Given the description of an element on the screen output the (x, y) to click on. 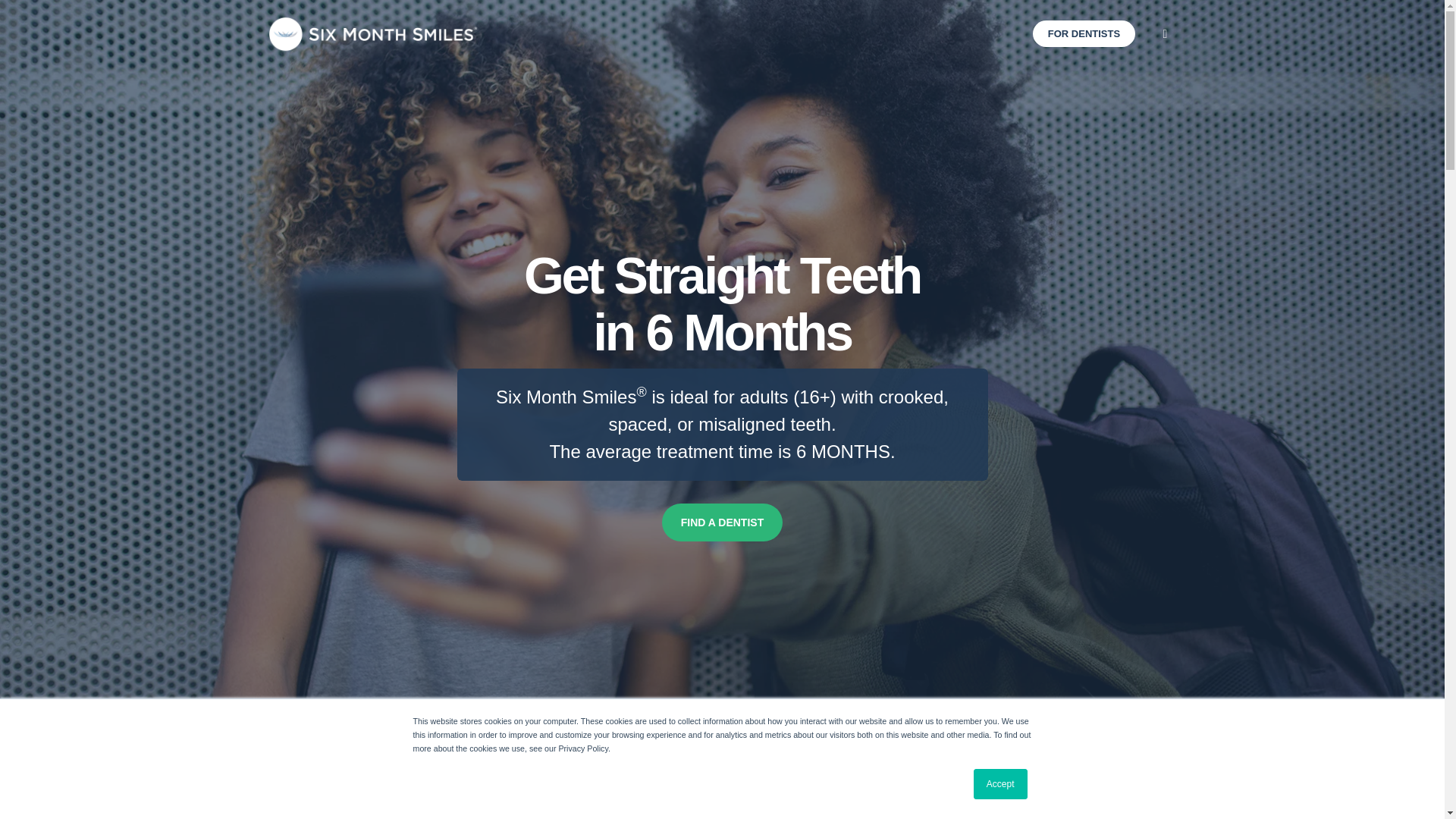
Six Month Smiles (373, 34)
FIND A DENTIST (722, 522)
FOR DENTISTS (1083, 33)
Accept (1000, 784)
